Given the description of an element on the screen output the (x, y) to click on. 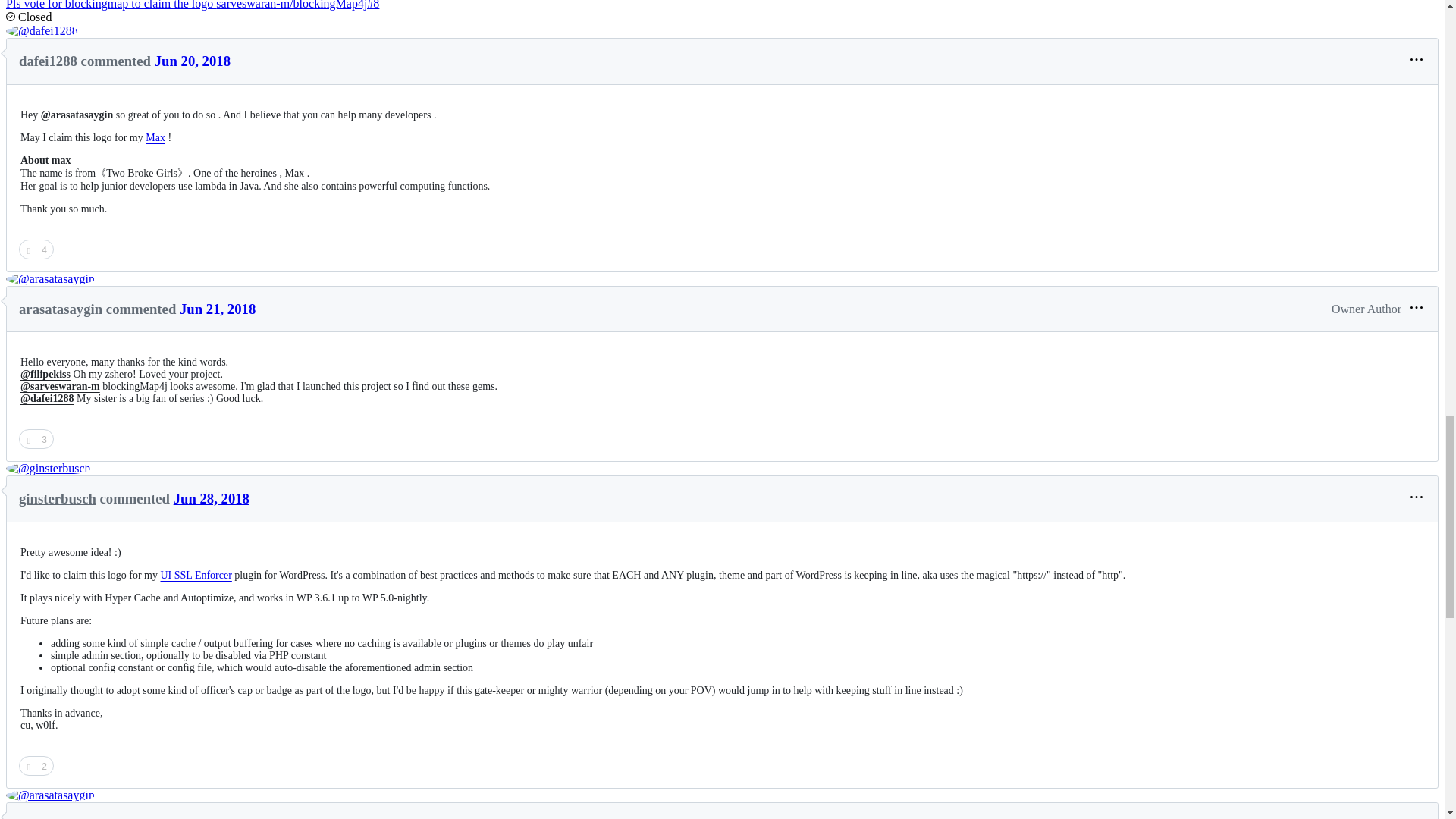
Status: Closed (27, 16)
